Given the description of an element on the screen output the (x, y) to click on. 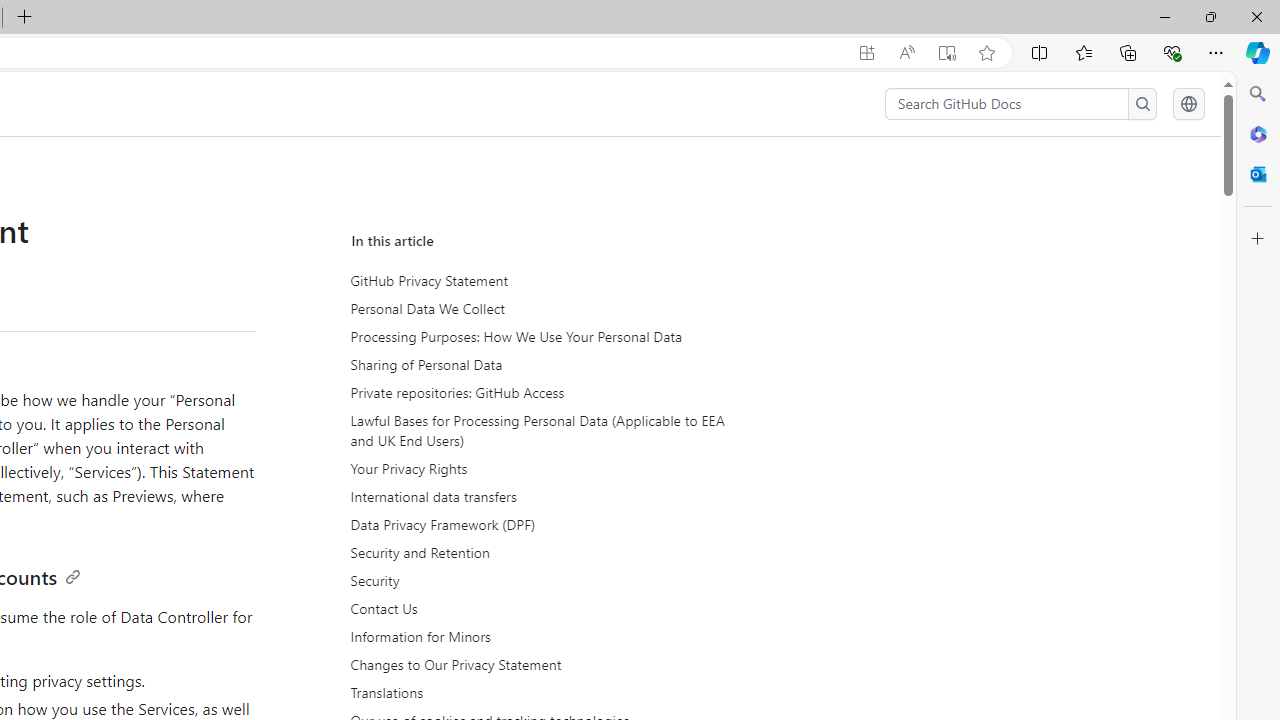
Translations (538, 692)
Security (535, 580)
GitHub Privacy Statement (538, 281)
Your Privacy Rights (538, 469)
Sharing of Personal Data (535, 364)
Security and Retention (535, 553)
Data Privacy Framework (DPF) (538, 525)
Search GitHub Docs (1006, 103)
